Given the description of an element on the screen output the (x, y) to click on. 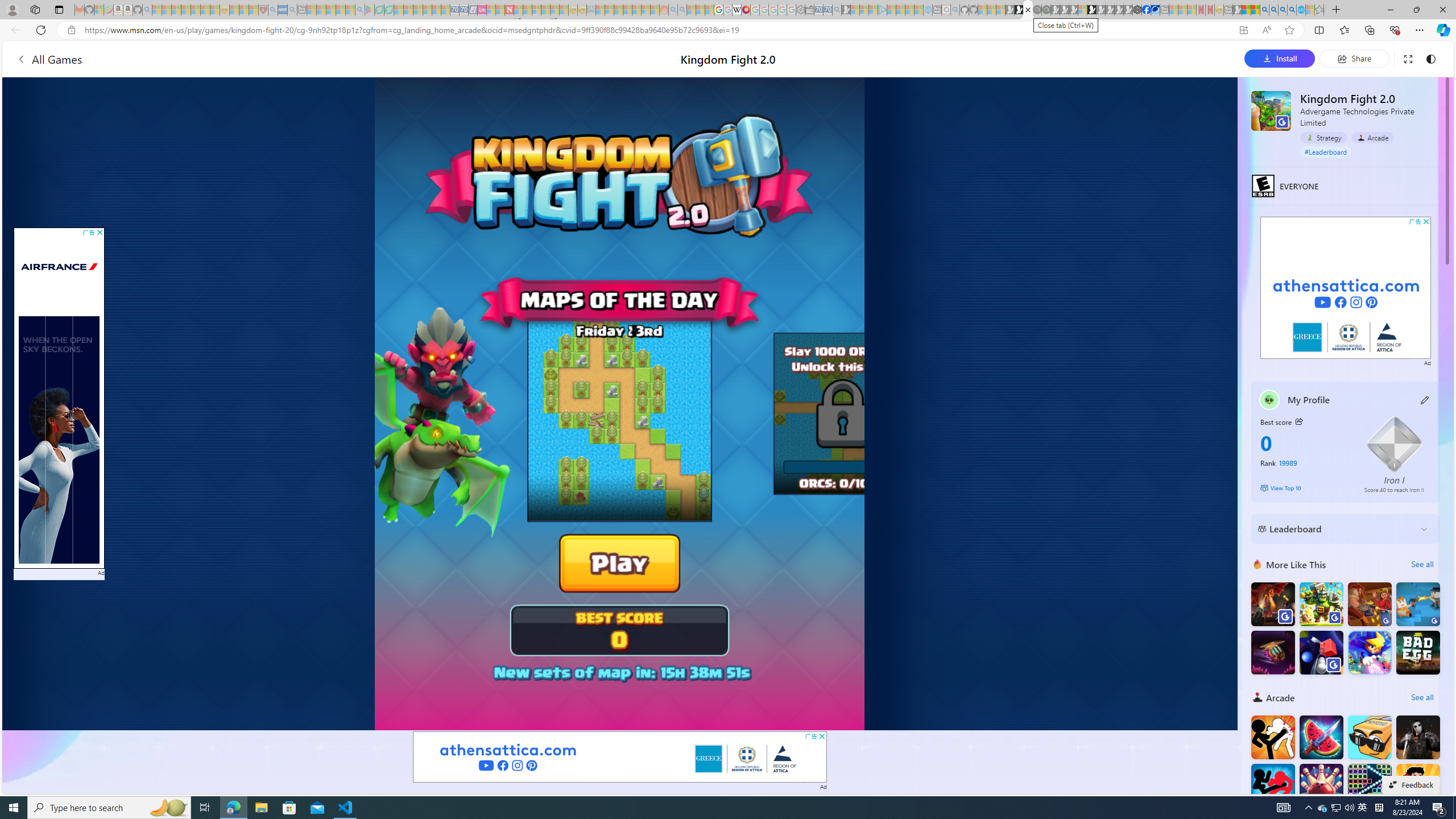
Pets - MSN - Sleeping (340, 9)
Boxing fighter : Super punch (1417, 785)
Install (1279, 58)
Kingdom Fight 2.0 (1270, 110)
AutomationID: cbb (1425, 221)
Home | Sky Blue Bikes - Sky Blue Bikes - Sleeping (927, 9)
Target page - Wikipedia (736, 9)
Jobs - lastminute.com Investor Portal - Sleeping (482, 9)
MediaWiki (745, 9)
